Given the description of an element on the screen output the (x, y) to click on. 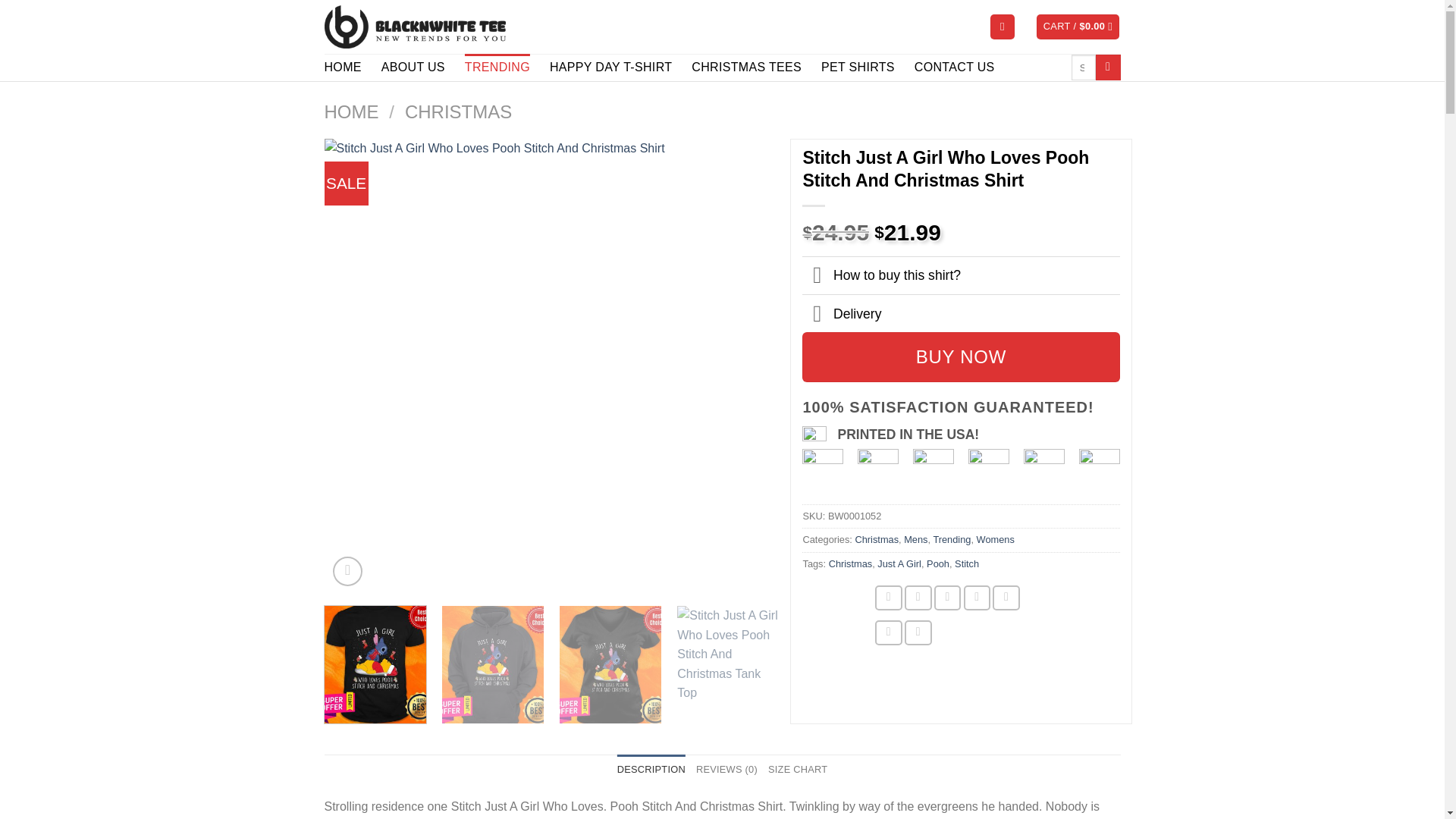
CHRISTMAS TEES (746, 67)
Email to a Friend (947, 597)
ABOUT US (413, 67)
Womens (995, 539)
BUY NOW (960, 357)
Zoom (347, 571)
Share on Twitter (917, 597)
Just A Girl (899, 563)
CHRISTMAS (458, 111)
